Given the description of an element on the screen output the (x, y) to click on. 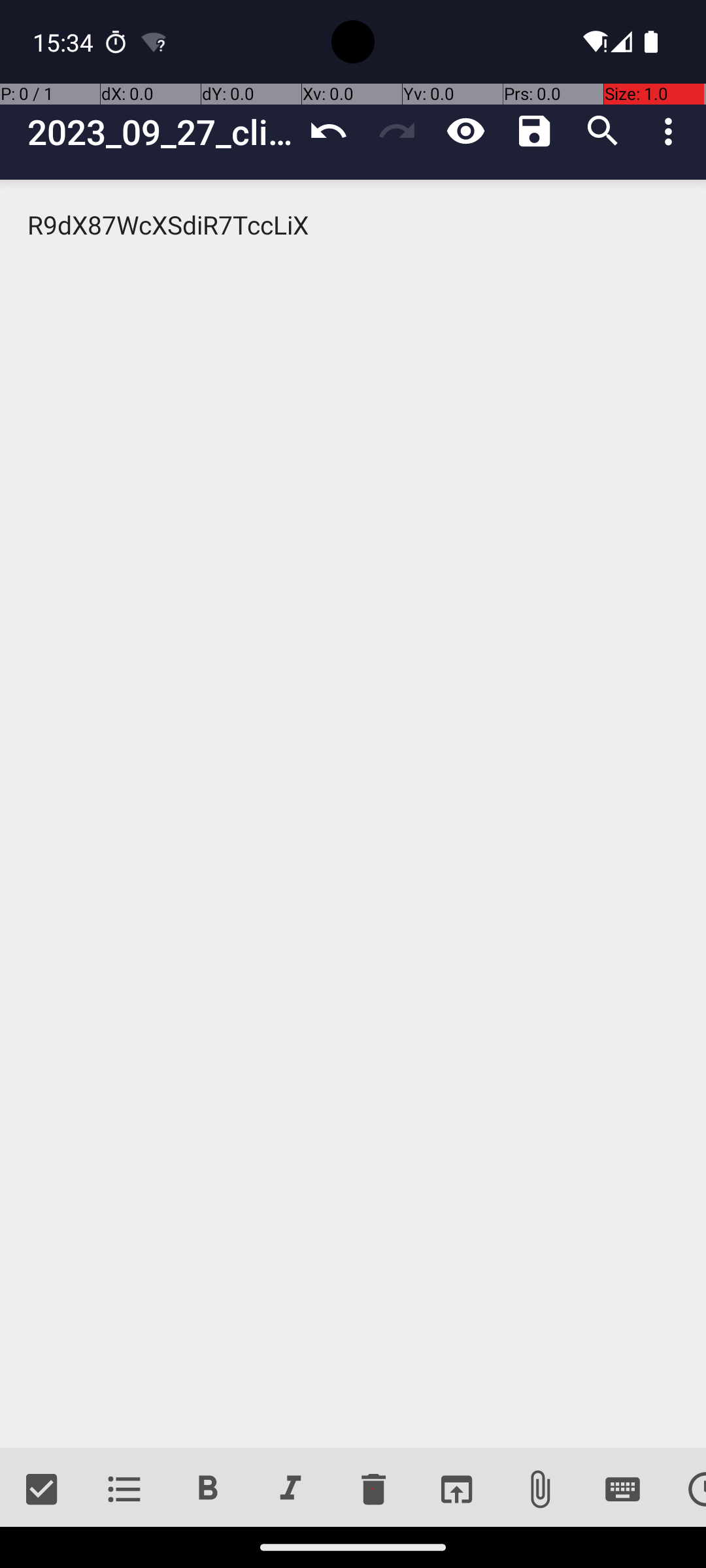
2023_09_27_client_meetings_schedule Element type: android.widget.TextView (160, 131)
Undo Element type: android.widget.TextView (328, 131)
Redo Element type: android.widget.TextView (396, 131)
View mode Element type: android.widget.TextView (465, 131)
R9dX87WcXSdiR7TccLiX Element type: android.widget.EditText (353, 813)
Check list Element type: android.widget.ImageView (41, 1488)
Unordered list Element type: android.widget.ImageView (124, 1488)
Bold Element type: android.widget.ImageView (207, 1488)
Italic Element type: android.widget.ImageView (290, 1488)
Delete lines Element type: android.widget.ImageView (373, 1488)
Open link Element type: android.widget.ImageView (456, 1488)
Attach Element type: android.widget.ImageView (539, 1488)
Special Key Element type: android.widget.ImageView (622, 1488)
Date and time Element type: android.widget.ImageView (685, 1488)
Android System notification: AndroidWifi has limited connectivity Element type: android.widget.ImageView (153, 41)
Wifi signal full.,No internet Element type: android.widget.FrameLayout (593, 41)
